Given the description of an element on the screen output the (x, y) to click on. 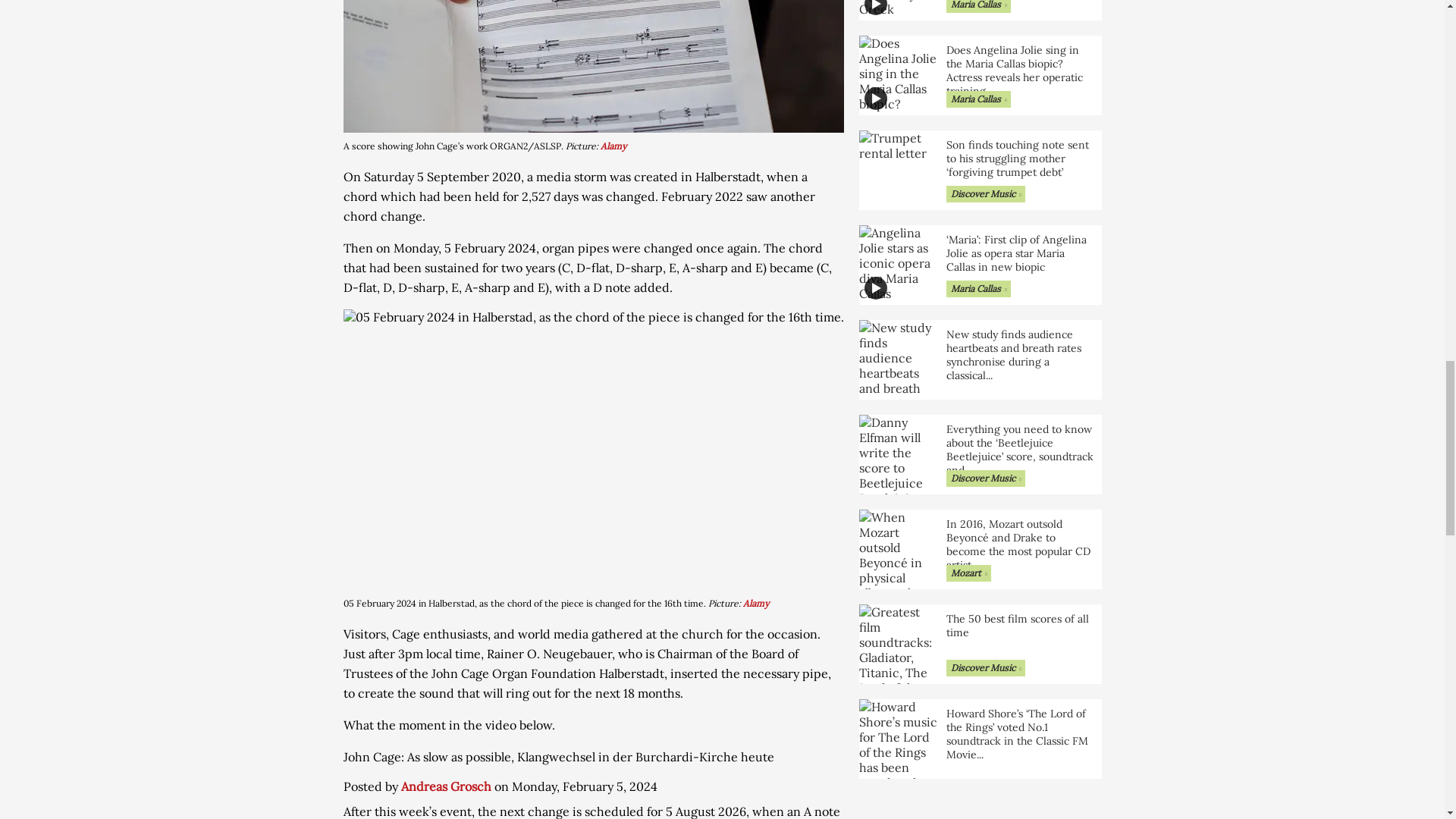
Alamy (612, 145)
Andreas Grosch (445, 785)
Alamy (755, 603)
